Given the description of an element on the screen output the (x, y) to click on. 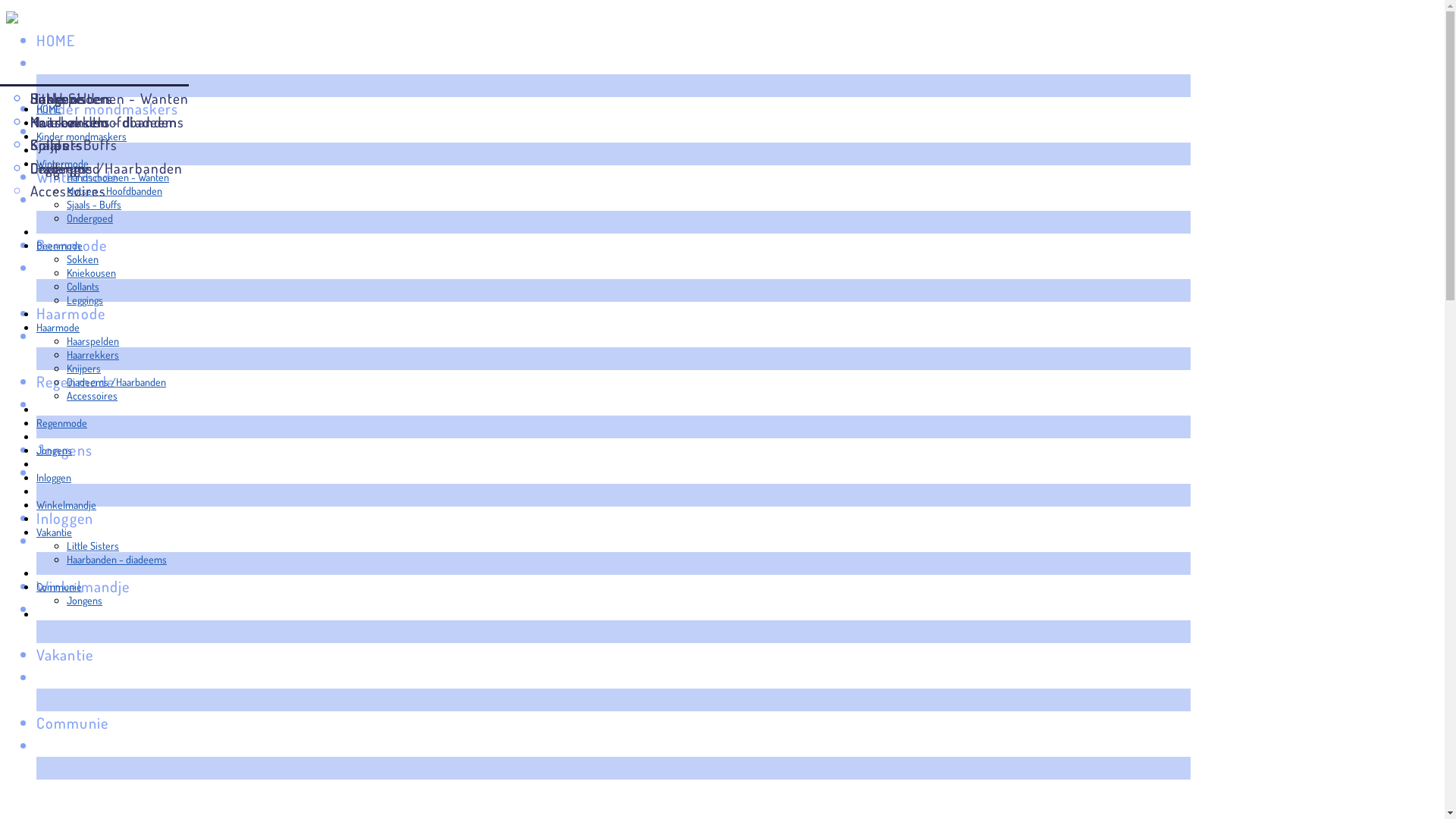
Ondergoed Element type: text (109, 168)
Mutsen - Hoofdbanden Element type: text (114, 190)
Kinder mondmaskers Element type: text (81, 135)
  Element type: text (613, 153)
  Element type: text (613, 563)
  Element type: text (40, 435)
Little Sisters Element type: text (107, 98)
Knijpers Element type: text (83, 367)
Handschoenen - Wanten Element type: text (117, 176)
Haarmode Element type: text (613, 312)
Haarbanden - diadeems Element type: text (107, 121)
Beenmode Element type: text (59, 244)
Inloggen Element type: text (613, 517)
Diadeems /Haarbanden Element type: text (106, 168)
Vakantie Element type: text (54, 531)
HOME Element type: text (48, 108)
  Element type: text (613, 699)
Haarmode Element type: text (57, 326)
  Element type: text (613, 358)
  Element type: text (613, 631)
Kniekousen Element type: text (67, 121)
  Element type: text (40, 149)
Haarspelden Element type: text (106, 98)
Jongens Element type: text (613, 449)
  Element type: text (613, 494)
Jongens Element type: text (54, 449)
Little Sisters Element type: text (92, 545)
Kinder mondmaskers Element type: text (613, 108)
Collants Element type: text (67, 145)
  Element type: text (40, 231)
Winkelmandje Element type: text (66, 504)
Ondergoed Element type: text (89, 217)
Accessoires Element type: text (91, 395)
Vakantie Element type: text (613, 654)
Sjaals - Buffs Element type: text (109, 145)
  Element type: text (40, 313)
Knijpers Element type: text (106, 145)
Haarrekkers Element type: text (106, 121)
Leggings Element type: text (84, 299)
  Element type: text (40, 463)
  Element type: text (40, 490)
Kniekousen Element type: text (91, 272)
Leggings Element type: text (67, 168)
Wintermode Element type: text (62, 162)
Beenmode Element type: text (613, 244)
Jongens Element type: text (84, 599)
  Element type: text (613, 290)
Haarbanden - diadeems Element type: text (116, 558)
Regenmode Element type: text (61, 422)
  Element type: text (40, 122)
Communie Element type: text (613, 722)
Sokken Element type: text (67, 98)
Regenmode Element type: text (613, 381)
Winkelmandje Element type: text (613, 585)
Sokken Element type: text (82, 258)
  Element type: text (40, 572)
  Element type: text (40, 613)
  Element type: text (40, 408)
Sjaals - Buffs Element type: text (93, 203)
  Element type: text (613, 426)
Collants Element type: text (82, 285)
Jongens Element type: text (57, 98)
Communie Element type: text (58, 586)
  Element type: text (613, 221)
Handschoenen - Wanten Element type: text (109, 98)
Diadeems /Haarbanden Element type: text (116, 381)
Haarspelden Element type: text (92, 340)
HOME Element type: text (613, 39)
Mutsen - Hoofdbanden Element type: text (109, 121)
Wintermode Element type: text (613, 176)
  Element type: text (613, 767)
  Element type: text (613, 85)
Accessoires Element type: text (106, 191)
  Element type: text (40, 517)
Haarrekkers Element type: text (92, 354)
Inloggen Element type: text (53, 476)
